Given the description of an element on the screen output the (x, y) to click on. 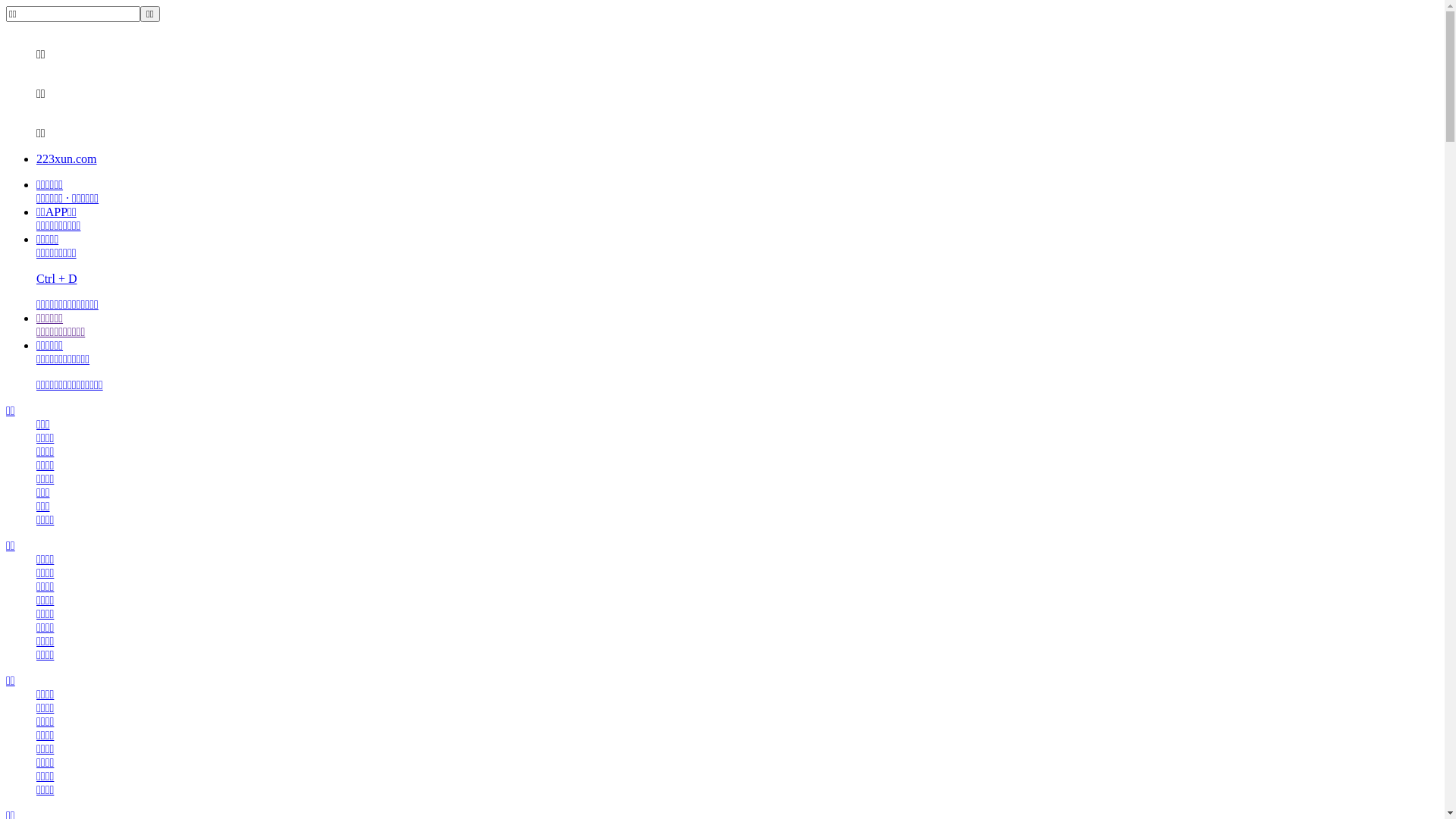
223xun.com Element type: text (66, 158)
